Given the description of an element on the screen output the (x, y) to click on. 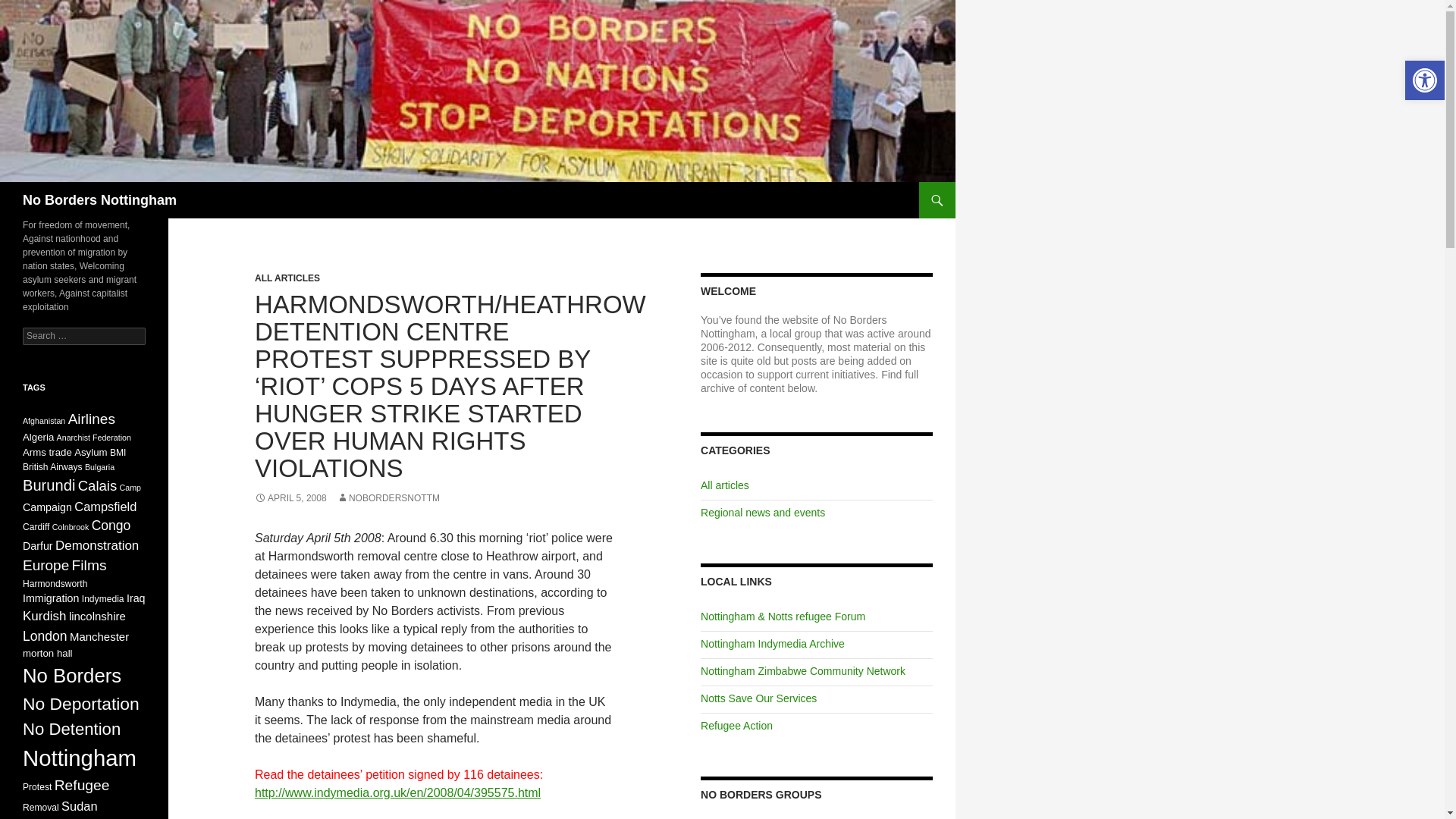
All articles (724, 485)
Regional news and events (762, 512)
Notts Save Our Services (758, 698)
No Borders Nottingham (99, 199)
Nottingham Zimbabwe Community Network (802, 671)
ALL ARTICLES (287, 277)
Nottingham Indymedia Archive (772, 644)
Nottingham Zimbabwe Community Network (802, 671)
NOBORDERSNOTTM (387, 498)
